Given the description of an element on the screen output the (x, y) to click on. 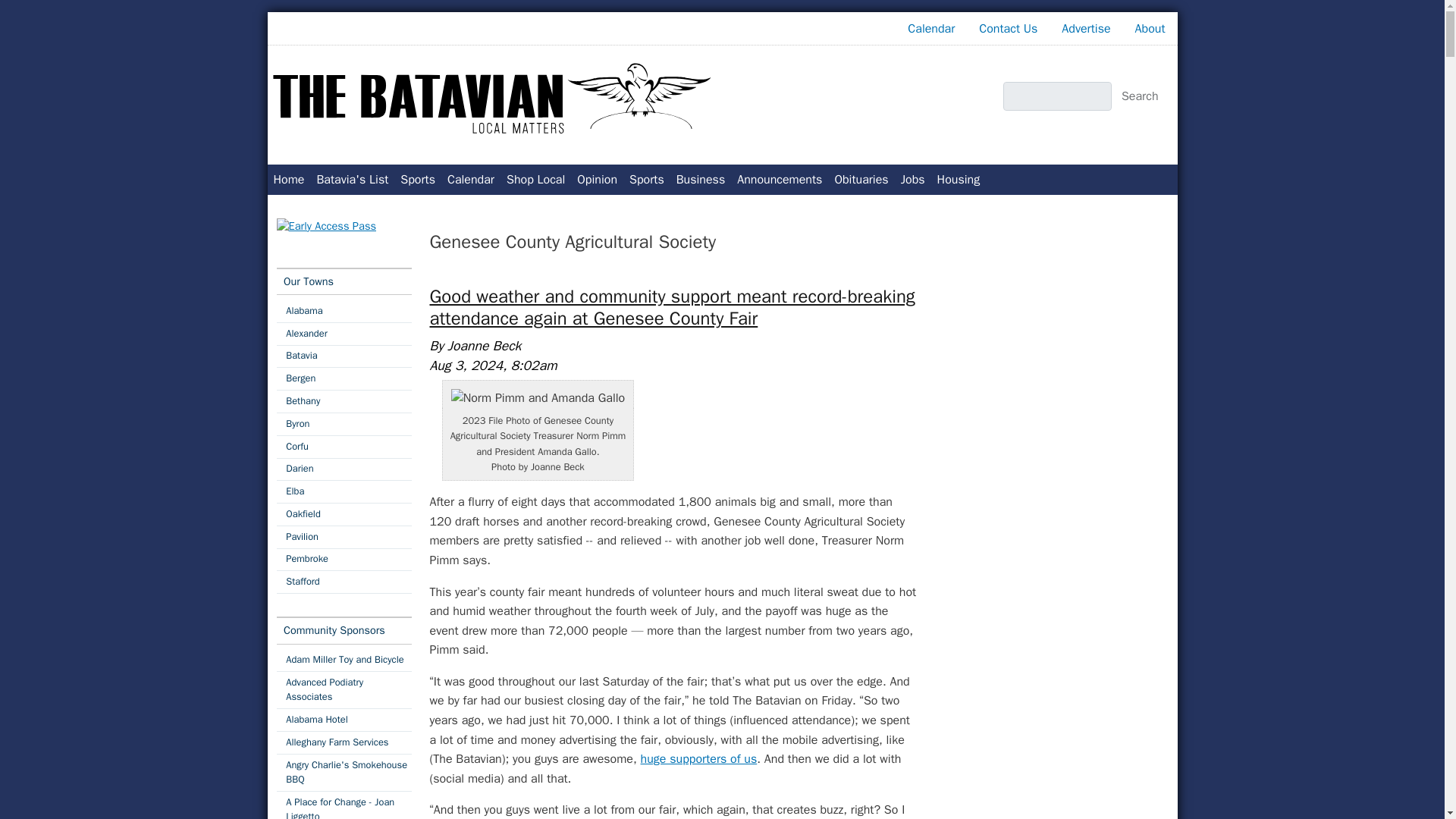
Calendar (930, 28)
Advertise (1085, 28)
Home (288, 179)
Search (1140, 95)
Saturday, August 3, 2024 - 8:02am (492, 365)
Shop Local (535, 179)
Page about advertising on the site. (1085, 28)
Contact Us (1007, 28)
News of local business (700, 179)
Home (494, 98)
